Given the description of an element on the screen output the (x, y) to click on. 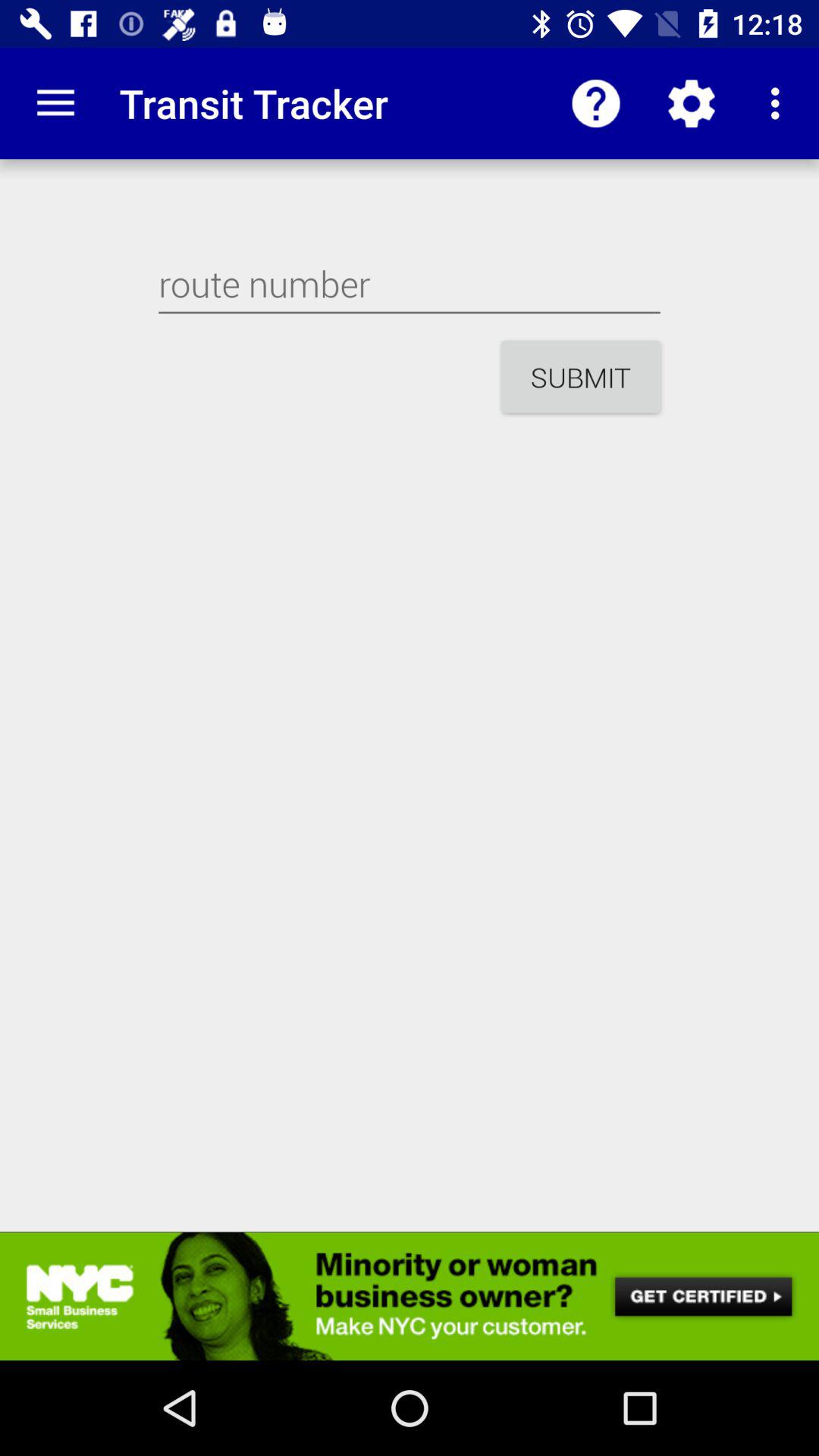
small business services add (409, 1295)
